Given the description of an element on the screen output the (x, y) to click on. 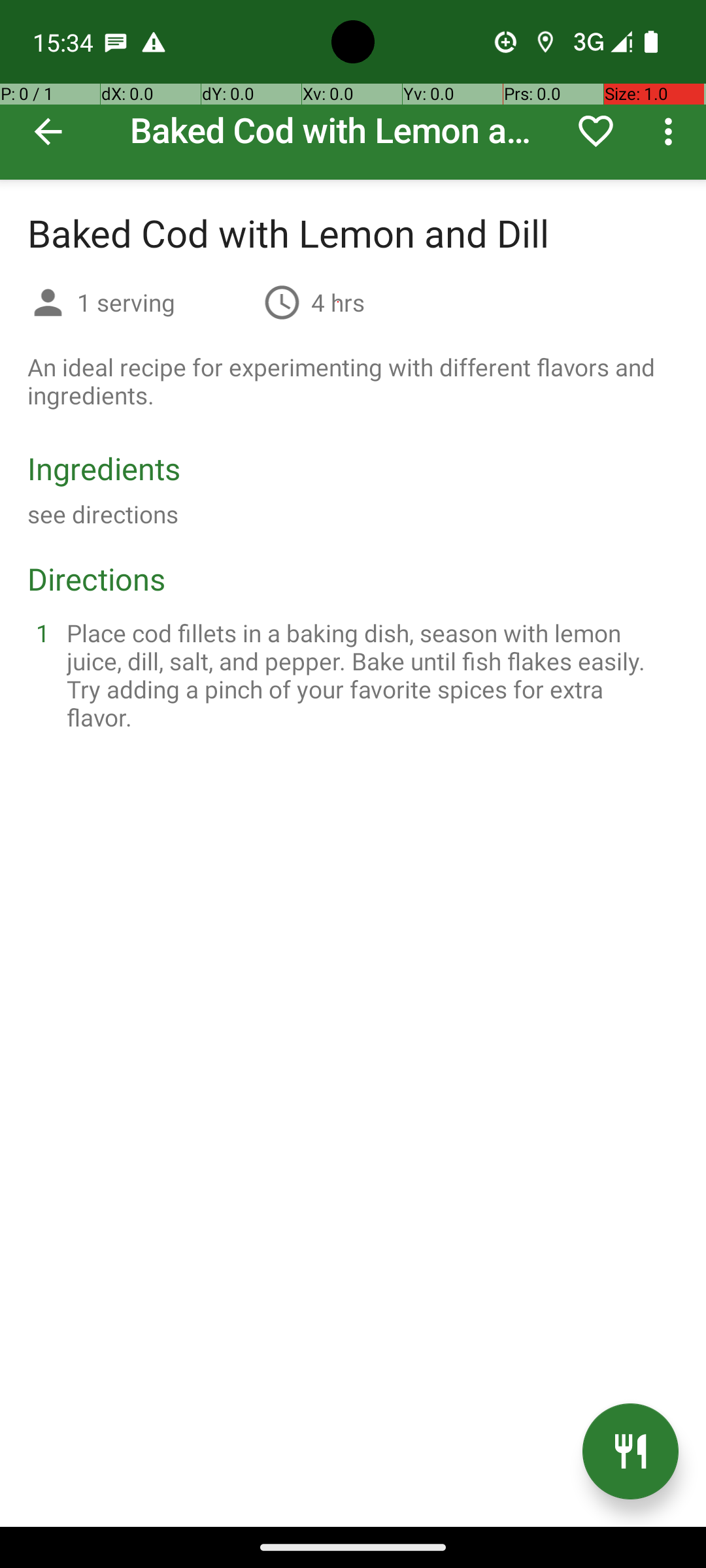
Baked Cod with Lemon and Dill Element type: android.widget.FrameLayout (353, 89)
1 serving Element type: android.widget.TextView (164, 301)
4 hrs Element type: android.widget.TextView (337, 301)
see directions Element type: android.widget.TextView (102, 513)
Place cod fillets in a baking dish, season with lemon juice, dill, salt, and pepper. Bake until fish flakes easily. Try adding a pinch of your favorite spices for extra flavor. Element type: android.widget.TextView (368, 674)
